Given the description of an element on the screen output the (x, y) to click on. 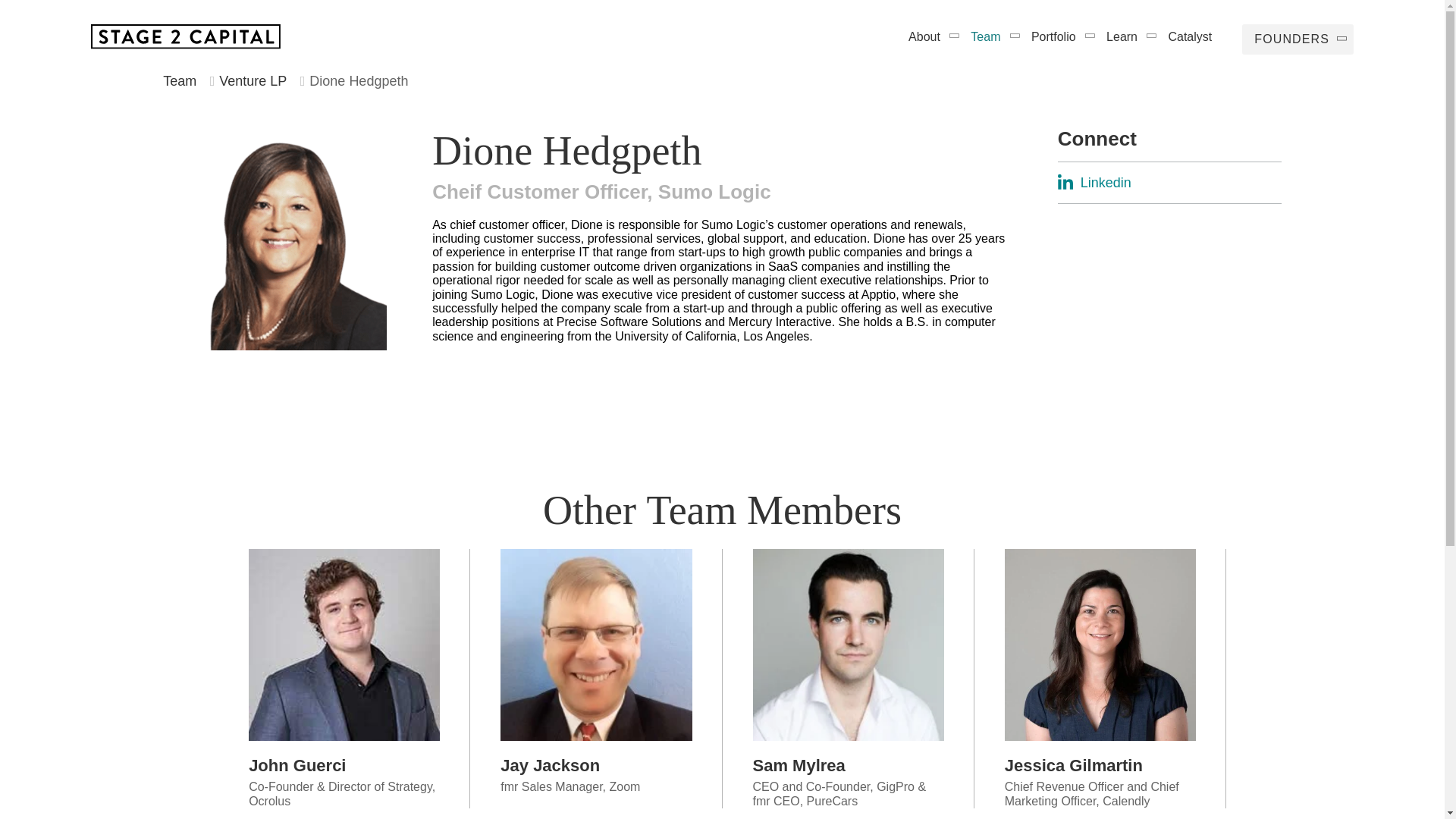
Team (987, 36)
Linkedin (1169, 182)
About (926, 36)
Catalyst (1189, 36)
Learn (1123, 36)
FOUNDERS (1297, 39)
Portfolio (1056, 36)
Venture LP (252, 80)
Team (179, 80)
